Given the description of an element on the screen output the (x, y) to click on. 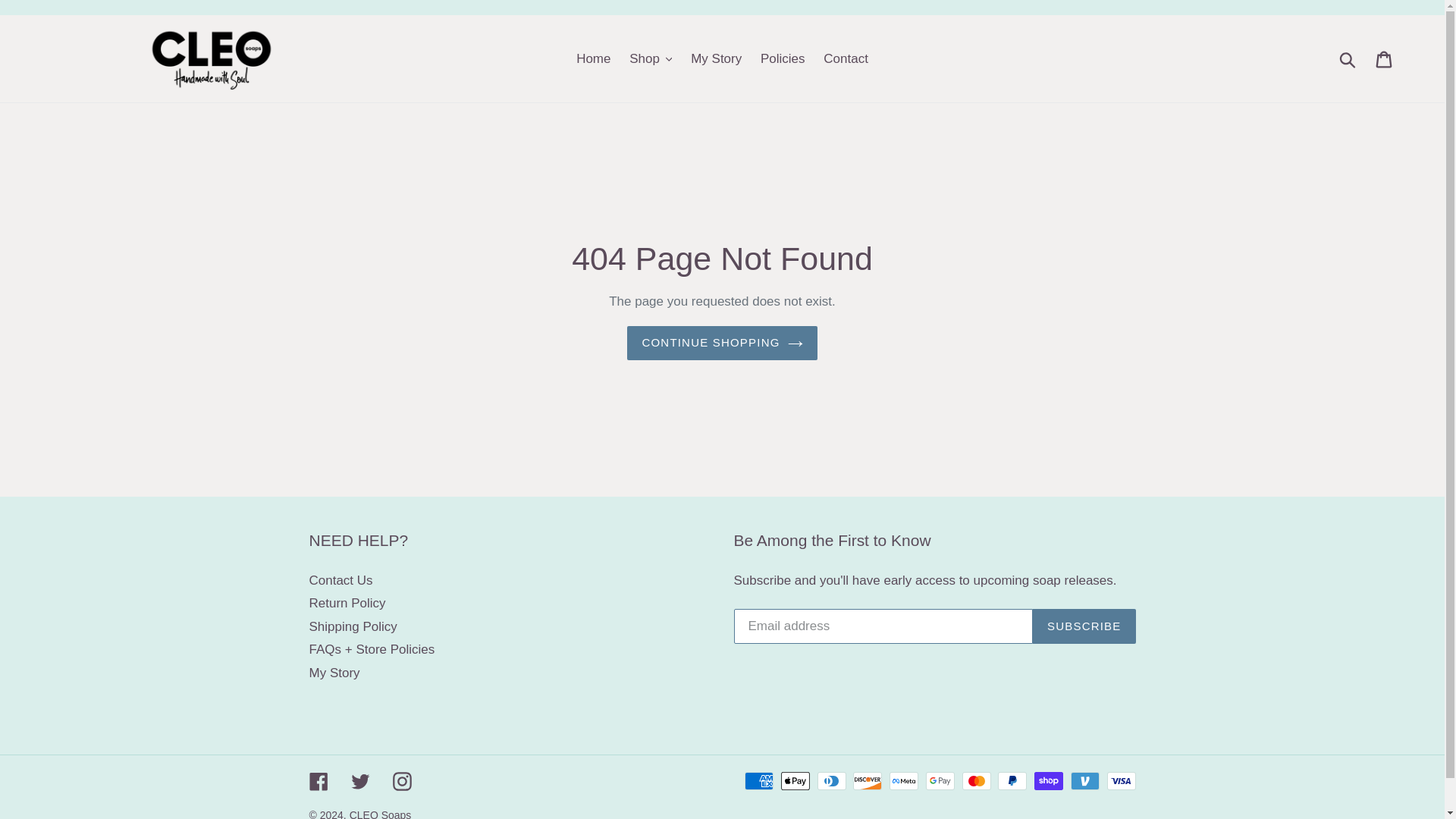
My Story (715, 58)
Policies (782, 58)
My Story (333, 672)
SUBSCRIBE (1083, 626)
Contact Us (340, 580)
Facebook (318, 781)
Twitter (359, 781)
Cart (1385, 58)
Submit (1348, 59)
Contact (845, 58)
Home (593, 58)
CLEO Soaps (380, 814)
CONTINUE SHOPPING (721, 342)
Return Policy (346, 603)
Instagram (402, 781)
